Given the description of an element on the screen output the (x, y) to click on. 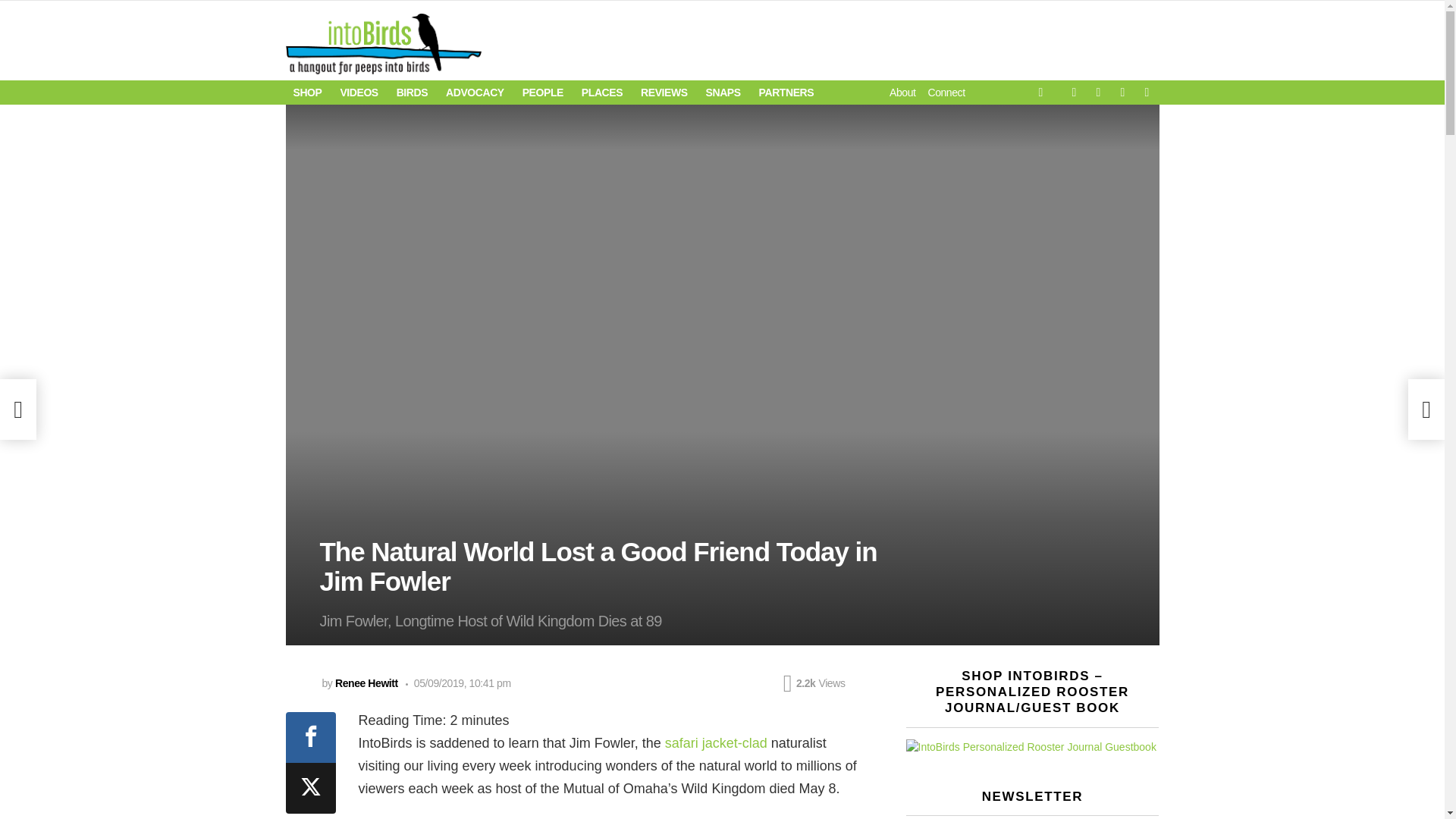
Renee Hewitt (365, 683)
Connect (945, 92)
facebook (1073, 92)
REVIEWS (664, 92)
VIDEOS (358, 92)
BIRDS (411, 92)
PLACES (601, 92)
SHOP (307, 92)
safari jacket-clad (716, 743)
PEOPLE (542, 92)
